Given the description of an element on the screen output the (x, y) to click on. 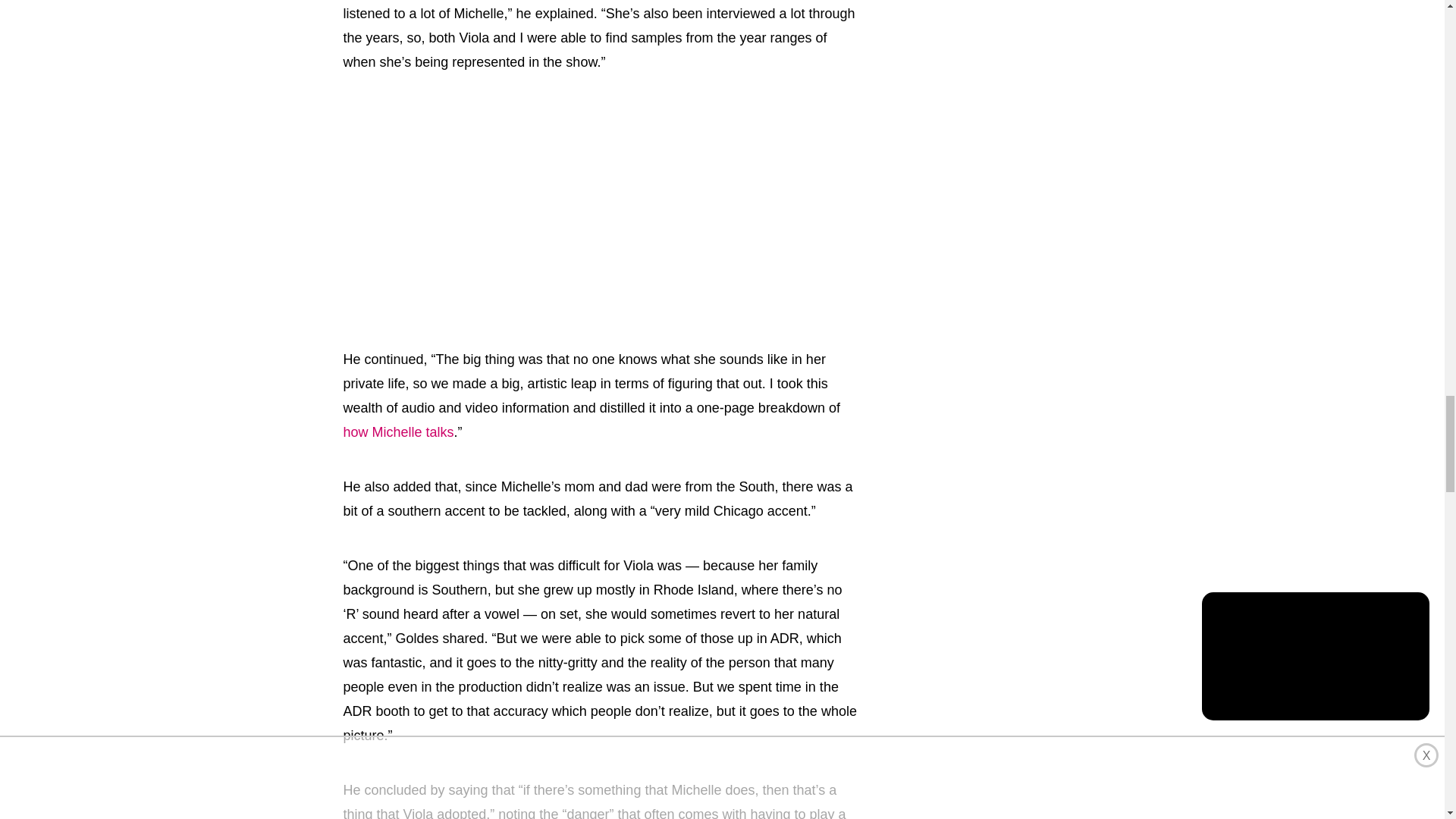
3rd party ad content (600, 207)
